Given the description of an element on the screen output the (x, y) to click on. 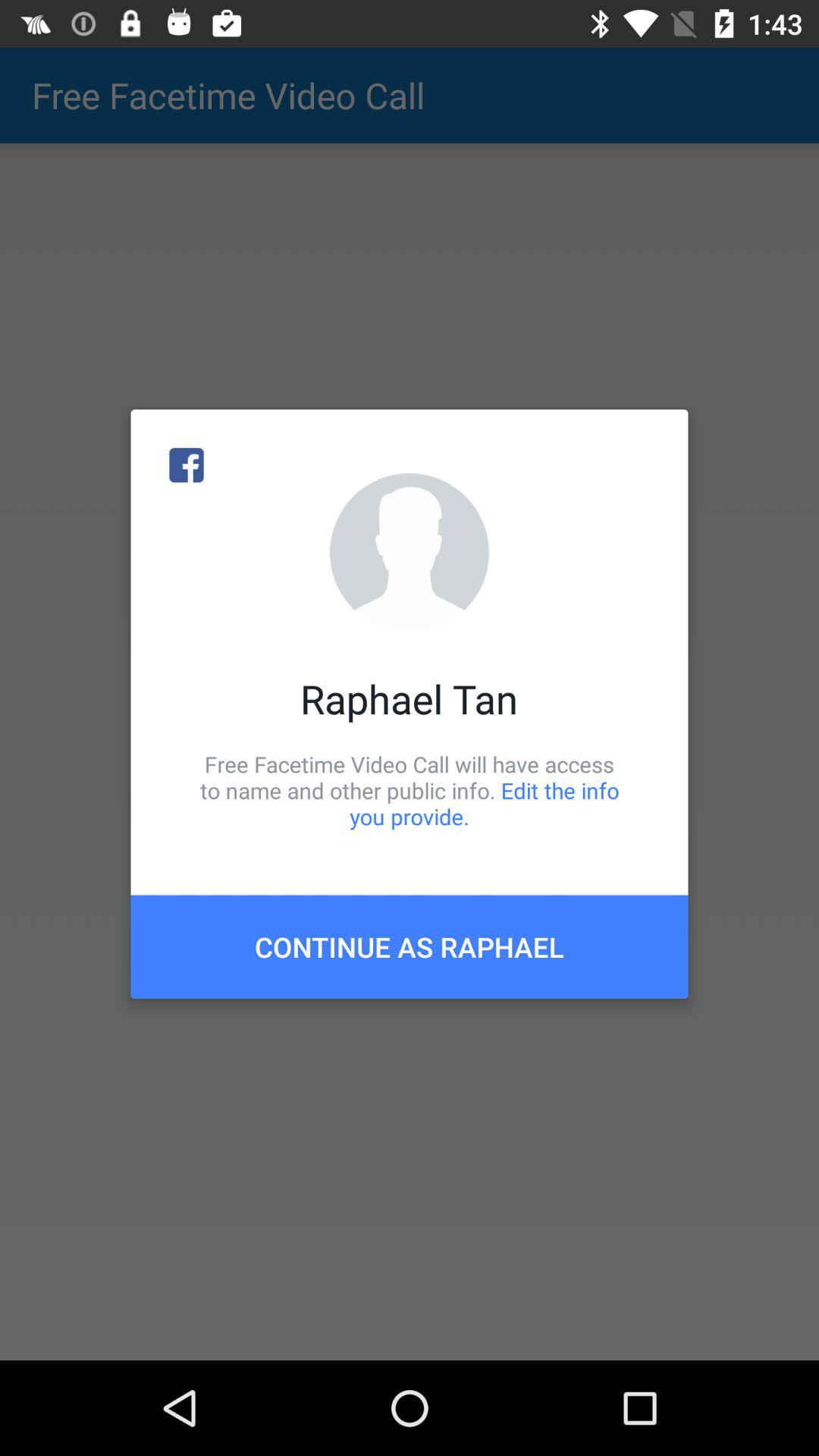
turn on the icon above the continue as raphael item (409, 790)
